Given the description of an element on the screen output the (x, y) to click on. 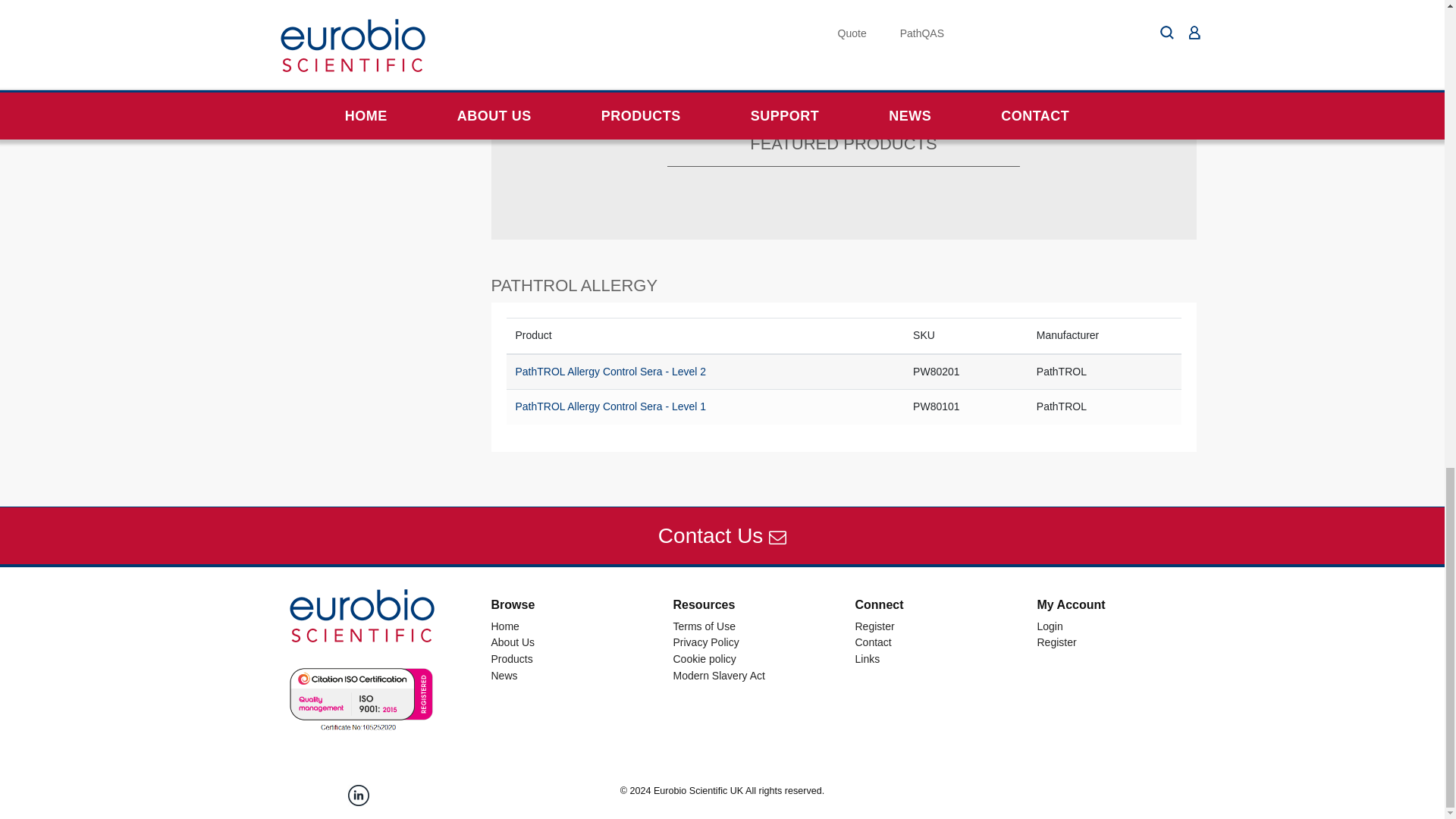
Terms of Use (703, 625)
Customer Login (1049, 625)
Eurobio Scientific UK LinkedIn page (358, 794)
Products (512, 658)
PathTROL Allergy Control Sera - Level 1 (610, 406)
Contact Us (722, 535)
About Us (513, 642)
ISO 9001-2015 Certificate (358, 698)
News (505, 675)
Link to Eurobio Scientific UK LinkedIn page (358, 794)
